Given the description of an element on the screen output the (x, y) to click on. 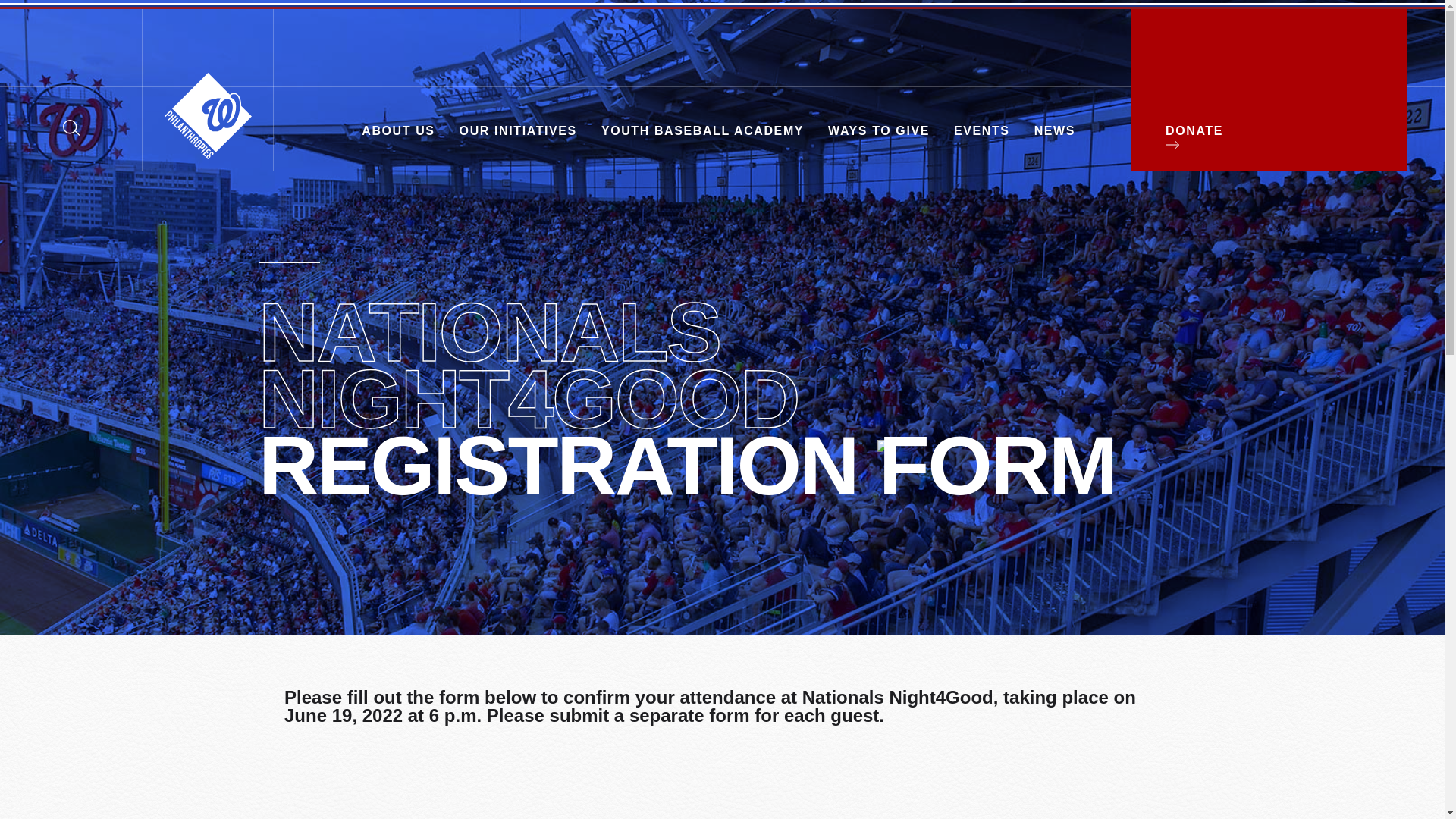
DONATE (1217, 128)
YOUTH BASEBALL ACADEMY (702, 128)
NEWS (1054, 128)
WAYS TO GIVE (878, 128)
OUR INITIATIVES (517, 128)
ABOUT US (397, 128)
EVENTS (982, 128)
